Given the description of an element on the screen output the (x, y) to click on. 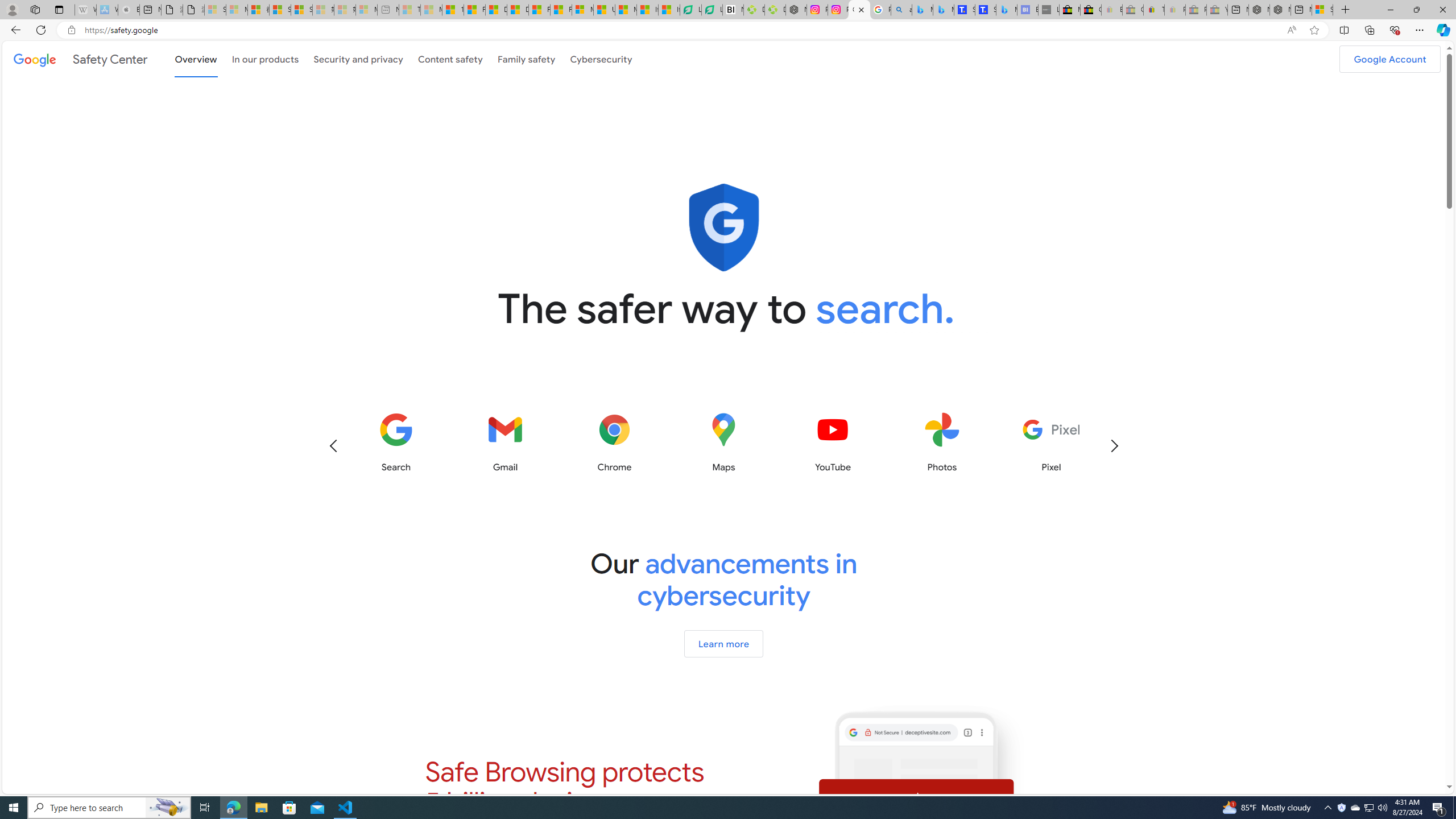
Content safety (450, 58)
Marine life - MSN - Sleeping (431, 9)
Learn more about Maps (723, 443)
In our products (265, 58)
Photos (941, 443)
Learn more about Pixel (1051, 443)
Cybersecurity (600, 58)
Microsoft Bing Travel - Flights from Hong Kong to Bangkok (922, 9)
Gmail (504, 443)
